Given the description of an element on the screen output the (x, y) to click on. 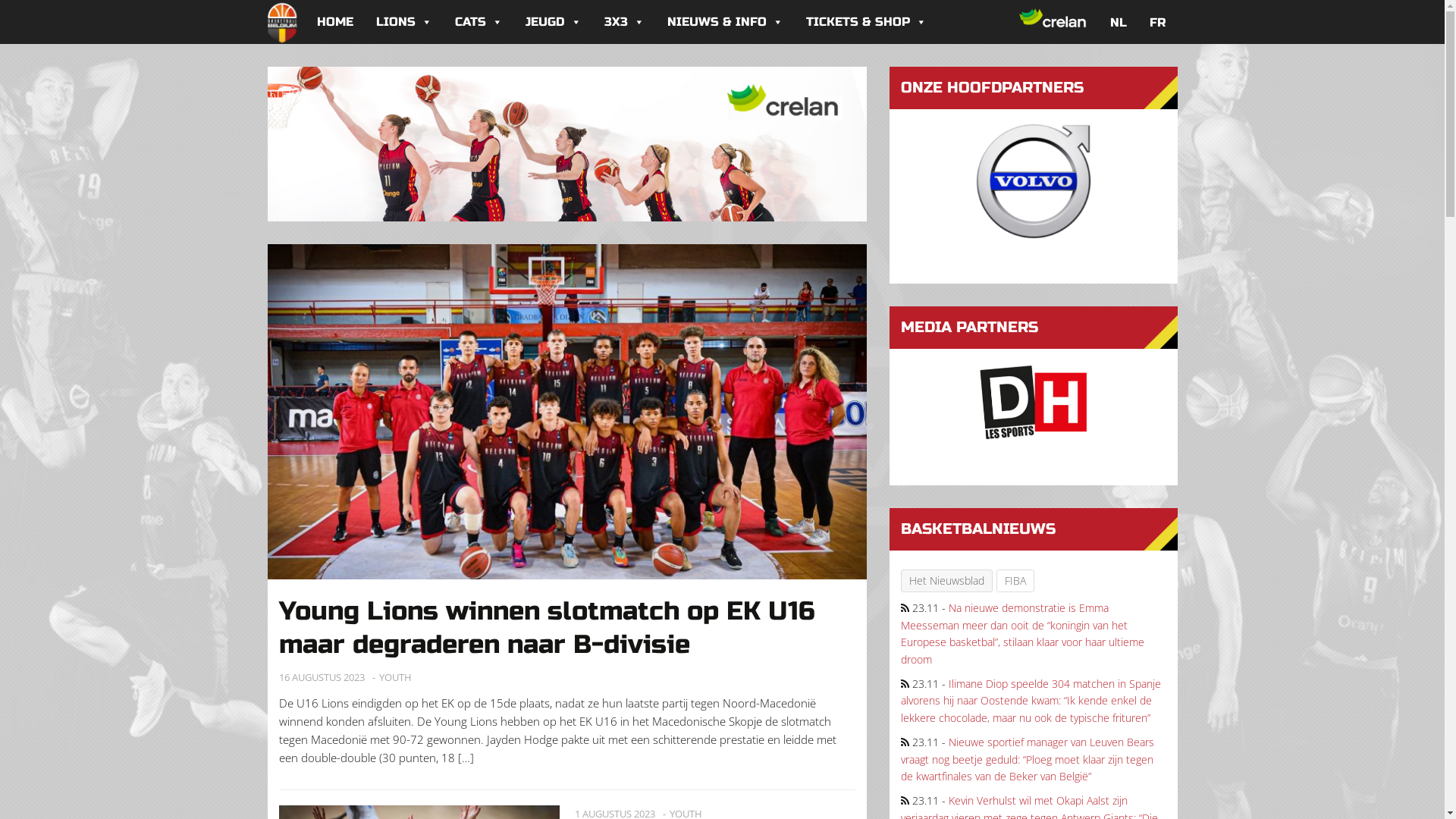
FR Element type: text (1157, 21)
3X3 Element type: text (624, 21)
NL Element type: text (1118, 21)
DHpt Element type: hover (1032, 401)
JEUGD Element type: text (553, 21)
TICKETS & SHOP Element type: text (866, 21)
LIONS Element type: text (403, 21)
YOUTH Element type: text (395, 677)
VCC_Ironmark_Print_CMYK Element type: hover (1033, 181)
CATS Element type: text (477, 21)
HOME Element type: text (334, 21)
NIEUWS & INFO Element type: text (724, 21)
